Given the description of an element on the screen output the (x, y) to click on. 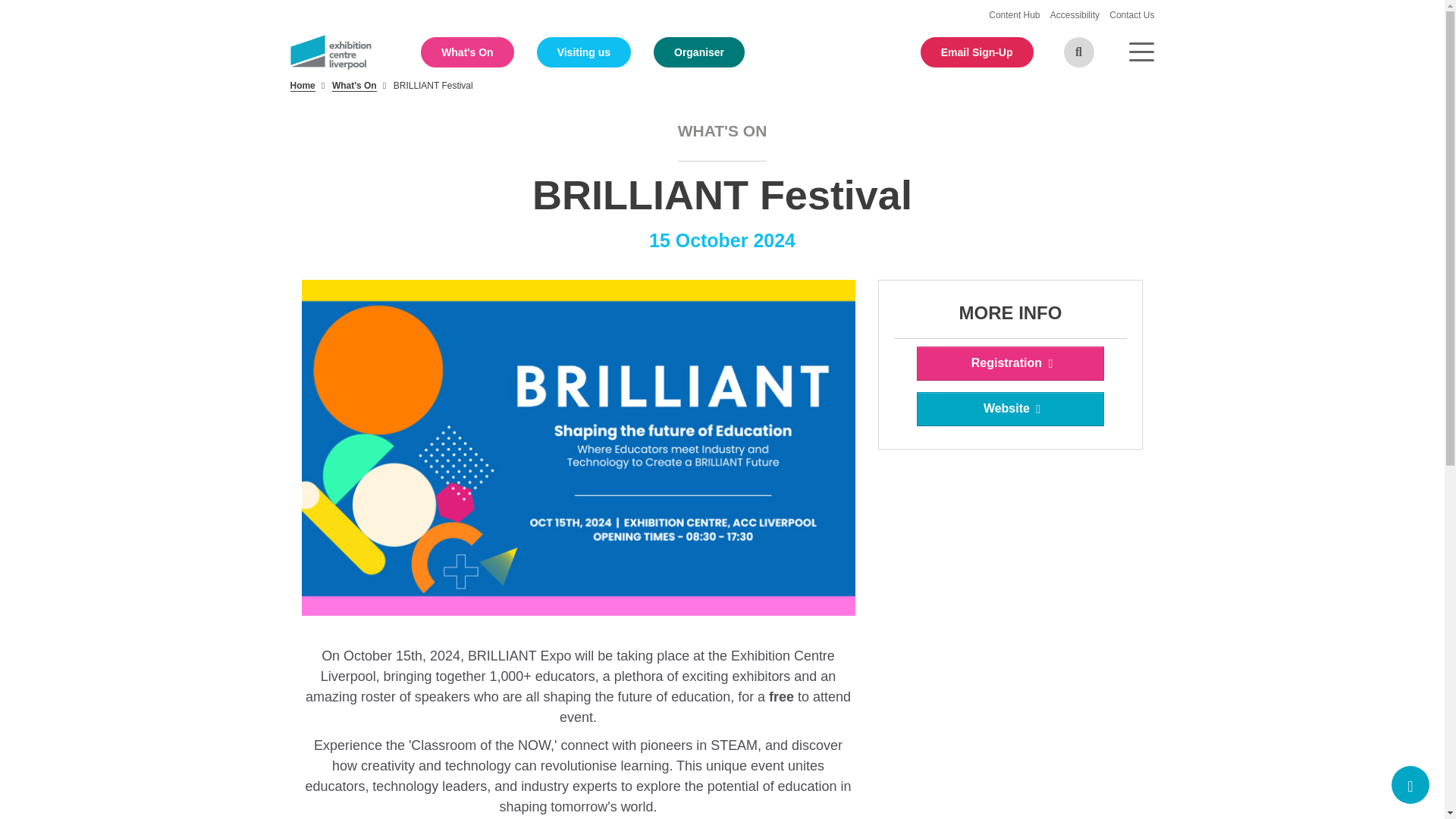
Content Hub (1015, 14)
ACC Liverpool homepage (330, 51)
Accessibility (1075, 14)
Organiser (698, 51)
Organiser (698, 51)
Visiting us (583, 51)
Email Sign-Up (976, 51)
Email Sign-Up (976, 51)
Contact Us (1131, 14)
Content Hub (1015, 14)
Contact Us (1131, 14)
What's On (466, 51)
What's On (466, 51)
Accessibility (1075, 14)
Visiting us (583, 51)
